Given the description of an element on the screen output the (x, y) to click on. 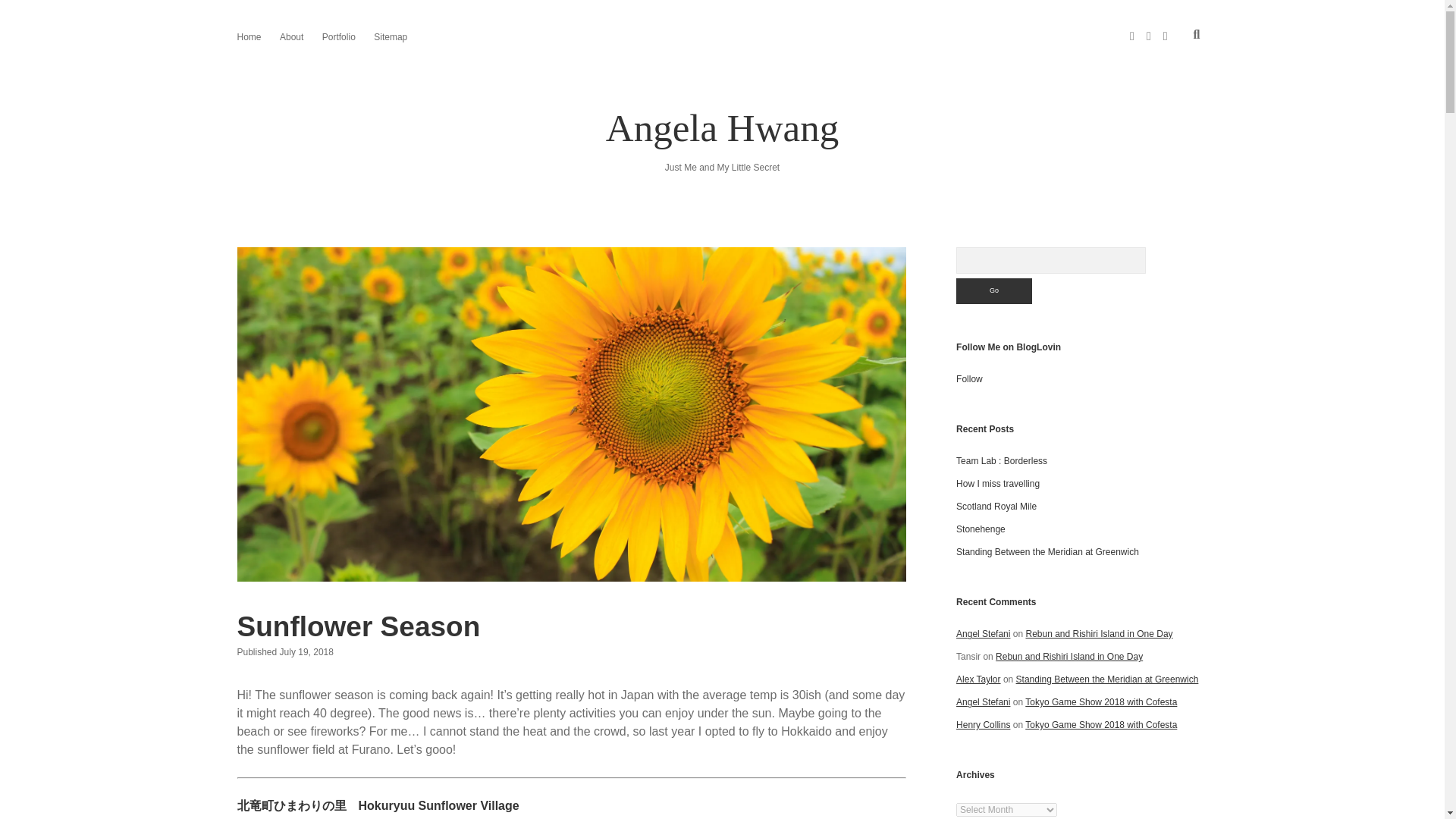
About (290, 37)
Go (994, 290)
Angela Hwang (721, 128)
Home (247, 37)
Portfolio (338, 37)
Go (994, 290)
Sitemap (390, 37)
